Given the description of an element on the screen output the (x, y) to click on. 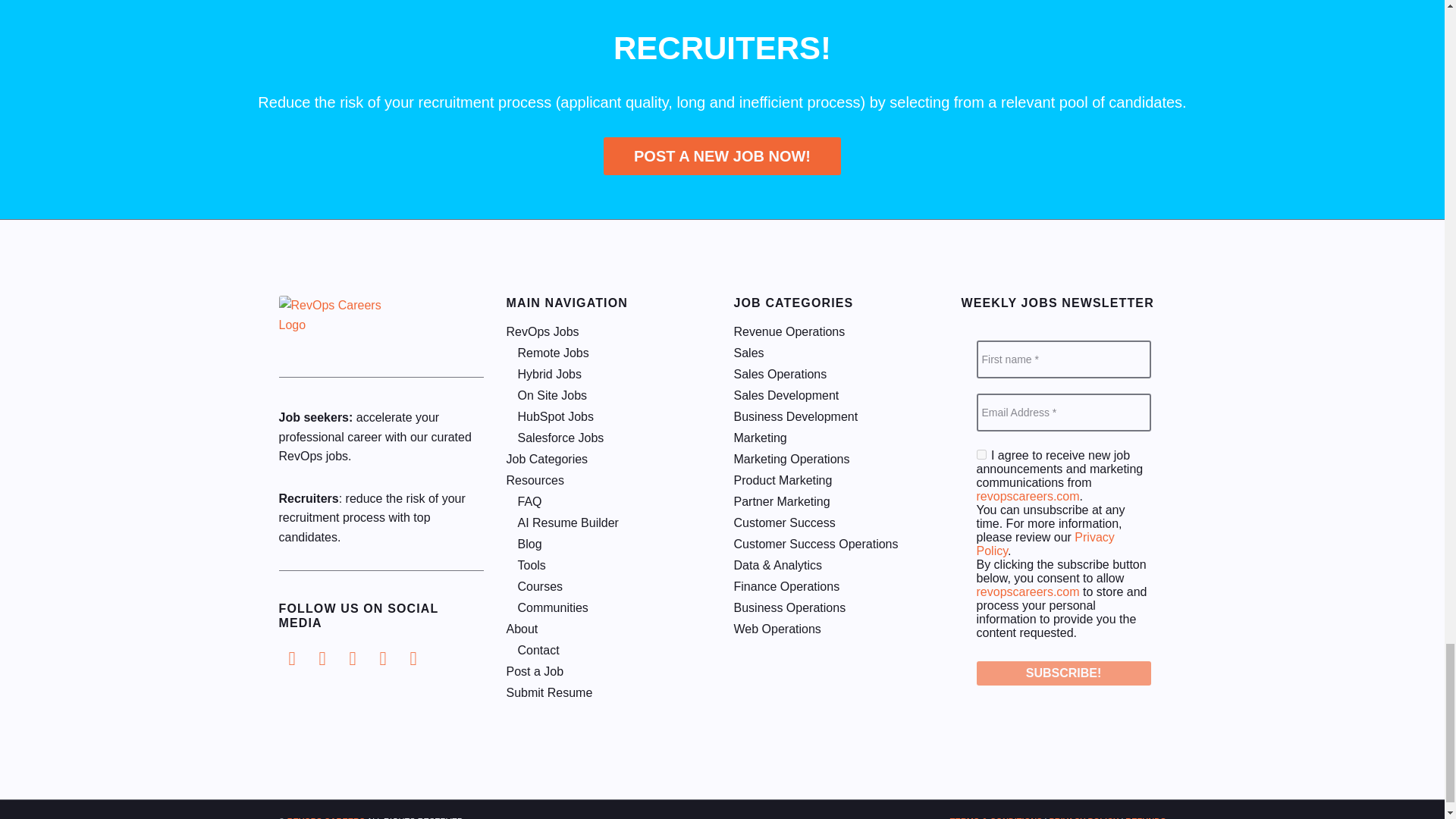
Email Address (1063, 412)
1 (981, 454)
First name (1063, 359)
SUBSCRIBE! (1063, 672)
